Given the description of an element on the screen output the (x, y) to click on. 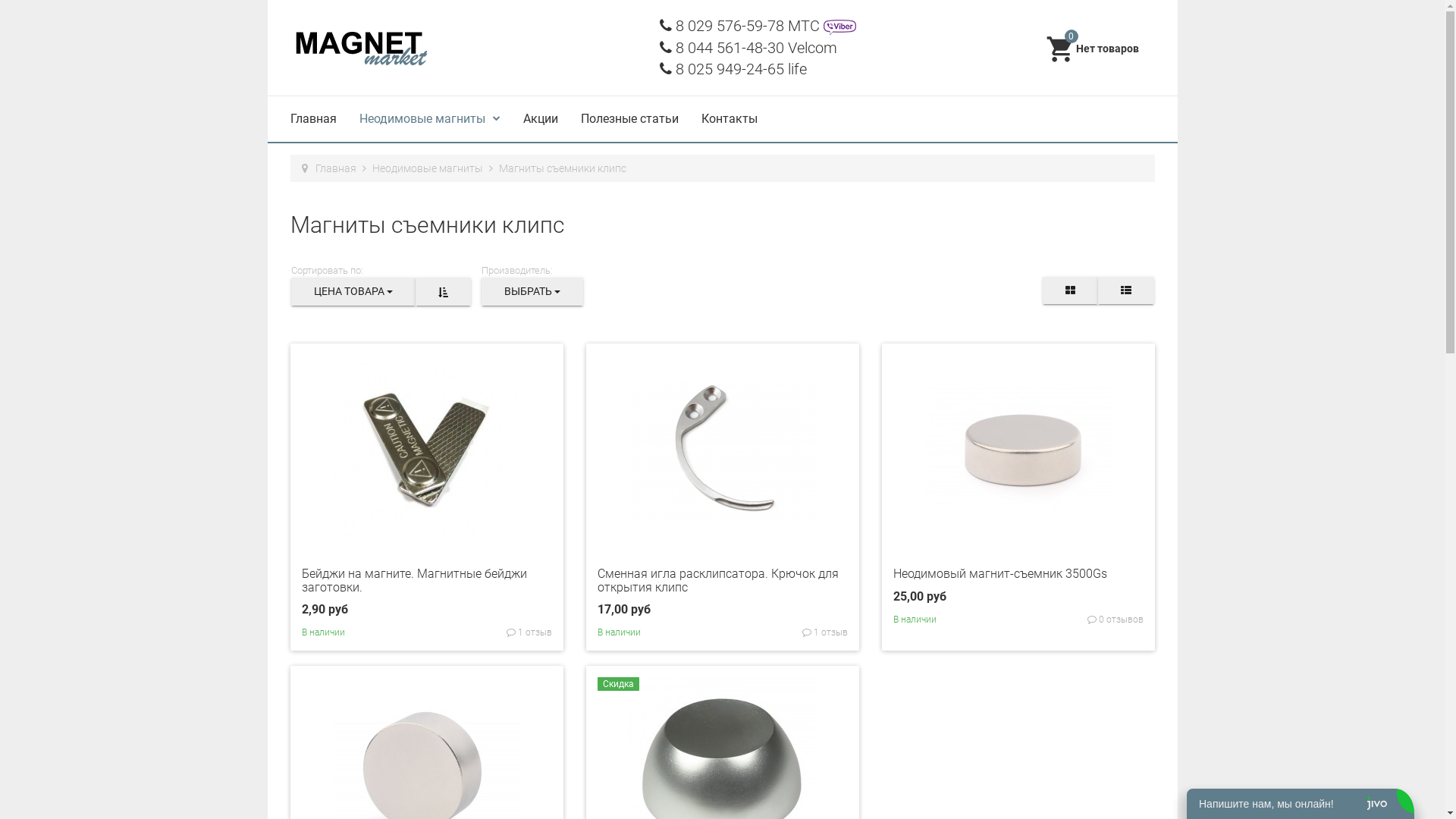
MagnetMarket Element type: hover (361, 47)
